Given the description of an element on the screen output the (x, y) to click on. 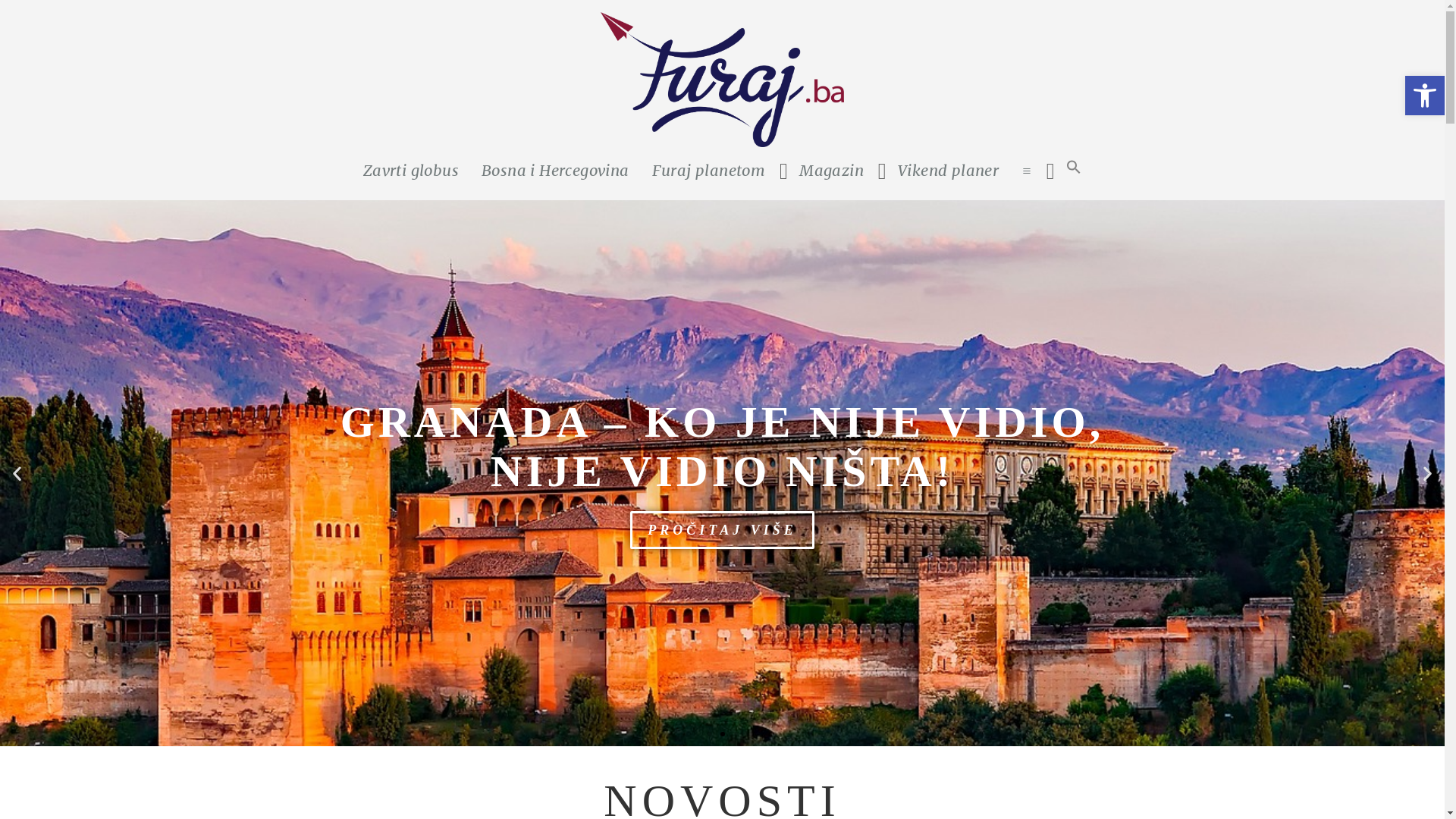
Vikend planer Element type: text (948, 170)
Zavrti globus Element type: text (722, 226)
Furaj planetom Element type: text (708, 170)
Zavrti globus Element type: text (410, 170)
Magazin Element type: text (831, 170)
Bosna i Hercegovina Element type: text (555, 170)
